Given the description of an element on the screen output the (x, y) to click on. 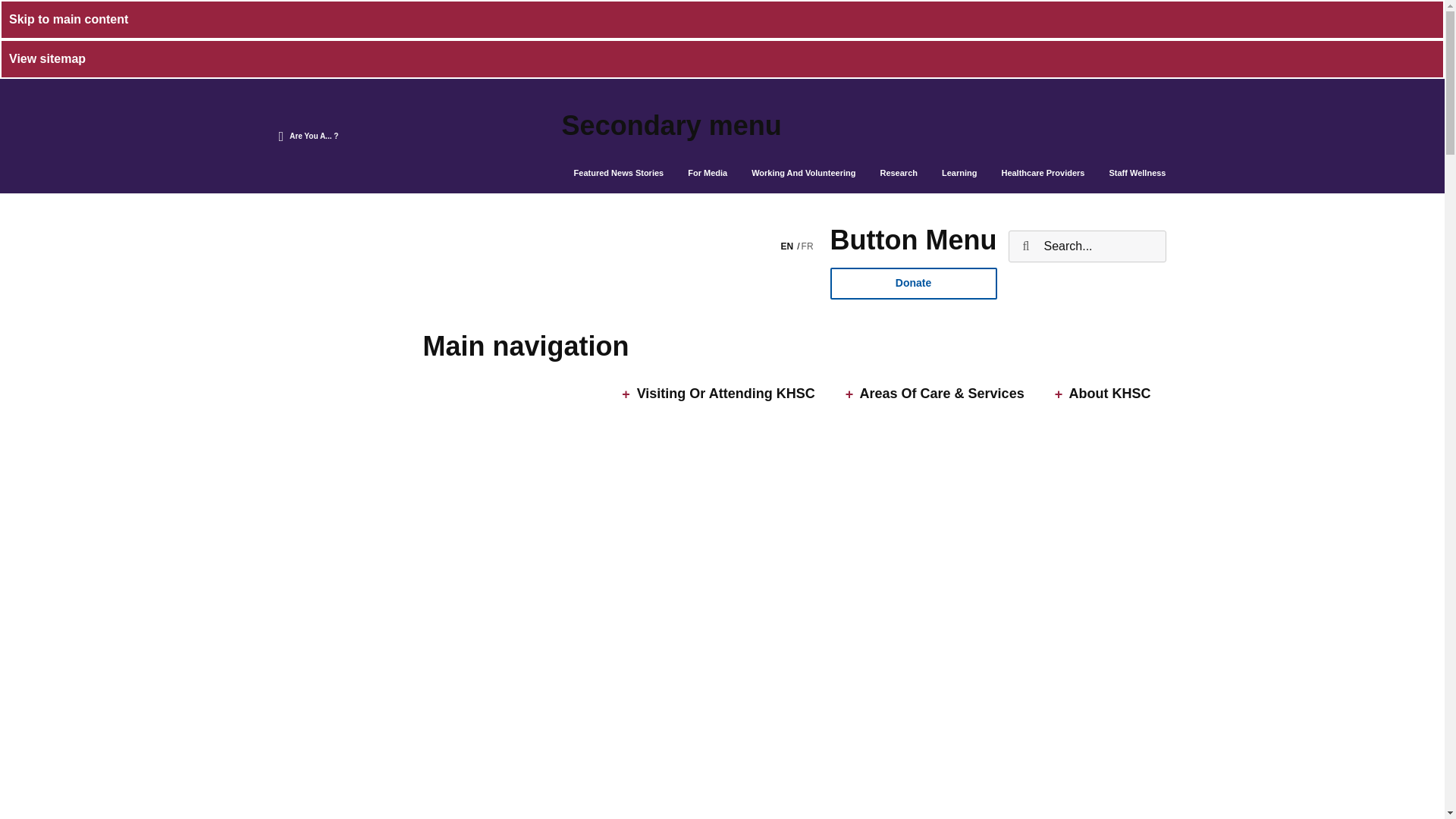
Information for Staff Wellness (1136, 173)
